Given the description of an element on the screen output the (x, y) to click on. 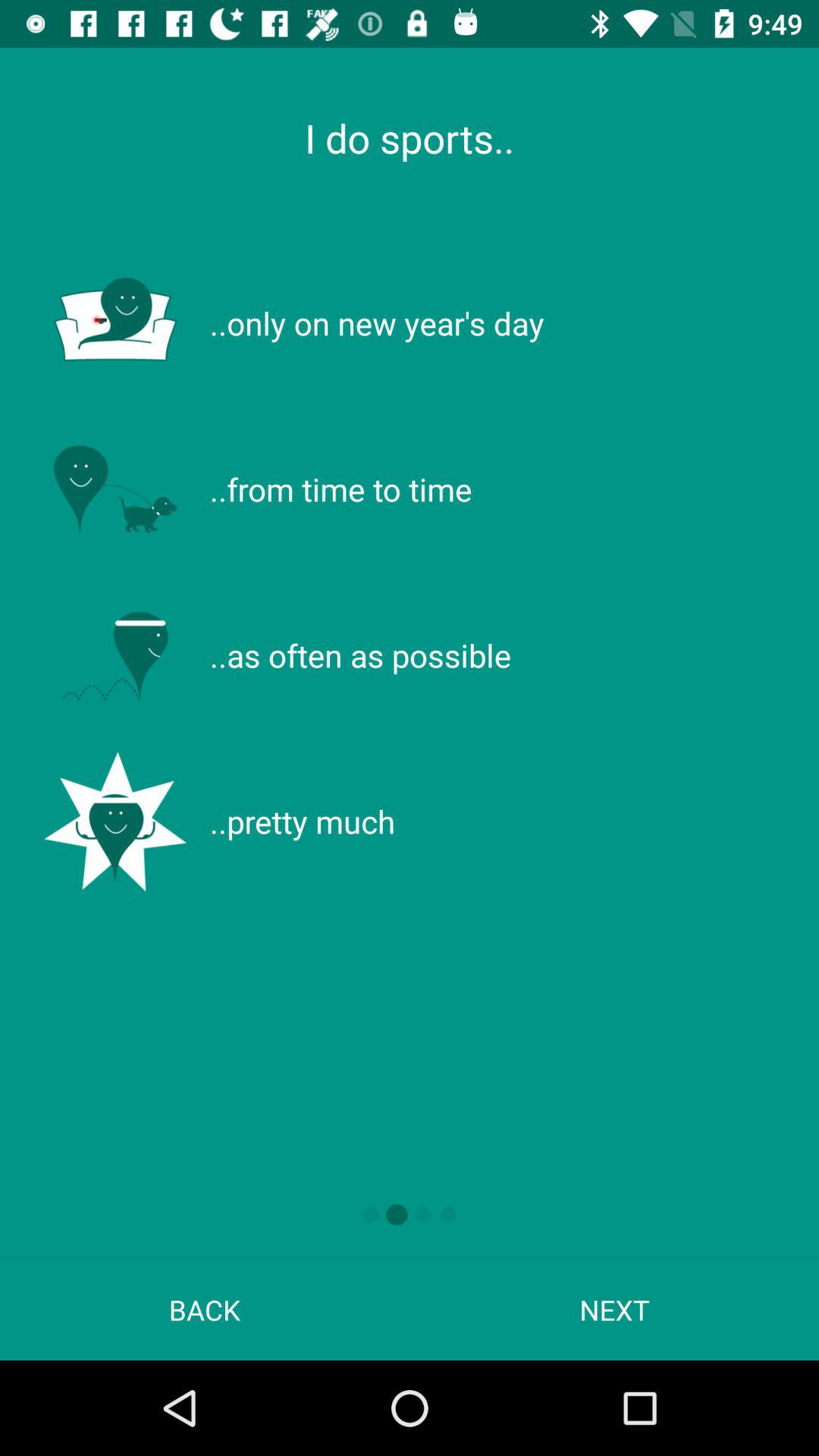
press app to the right of the back (614, 1309)
